Given the description of an element on the screen output the (x, y) to click on. 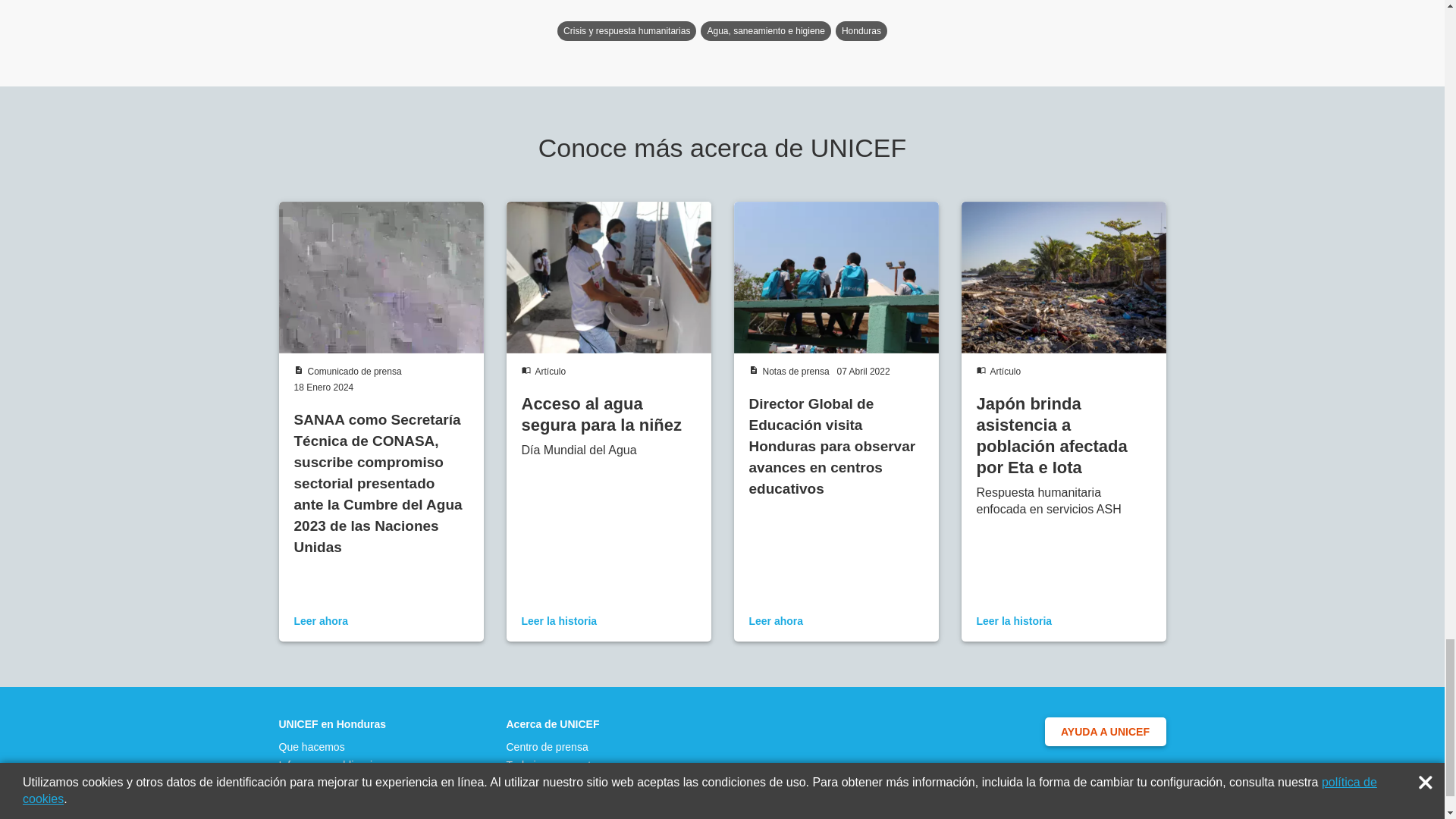
Crisis y respuesta humanitarias (626, 30)
UNICEF en Honduras (337, 724)
Historias de vida (337, 783)
UNICEF en Honduras (337, 724)
Informes y publicaciones (337, 765)
Acerca de UNICEF (555, 724)
Informes y publicaciones (337, 765)
Honduras (860, 30)
Que hacemos (337, 746)
Que hacemos (337, 746)
